Given the description of an element on the screen output the (x, y) to click on. 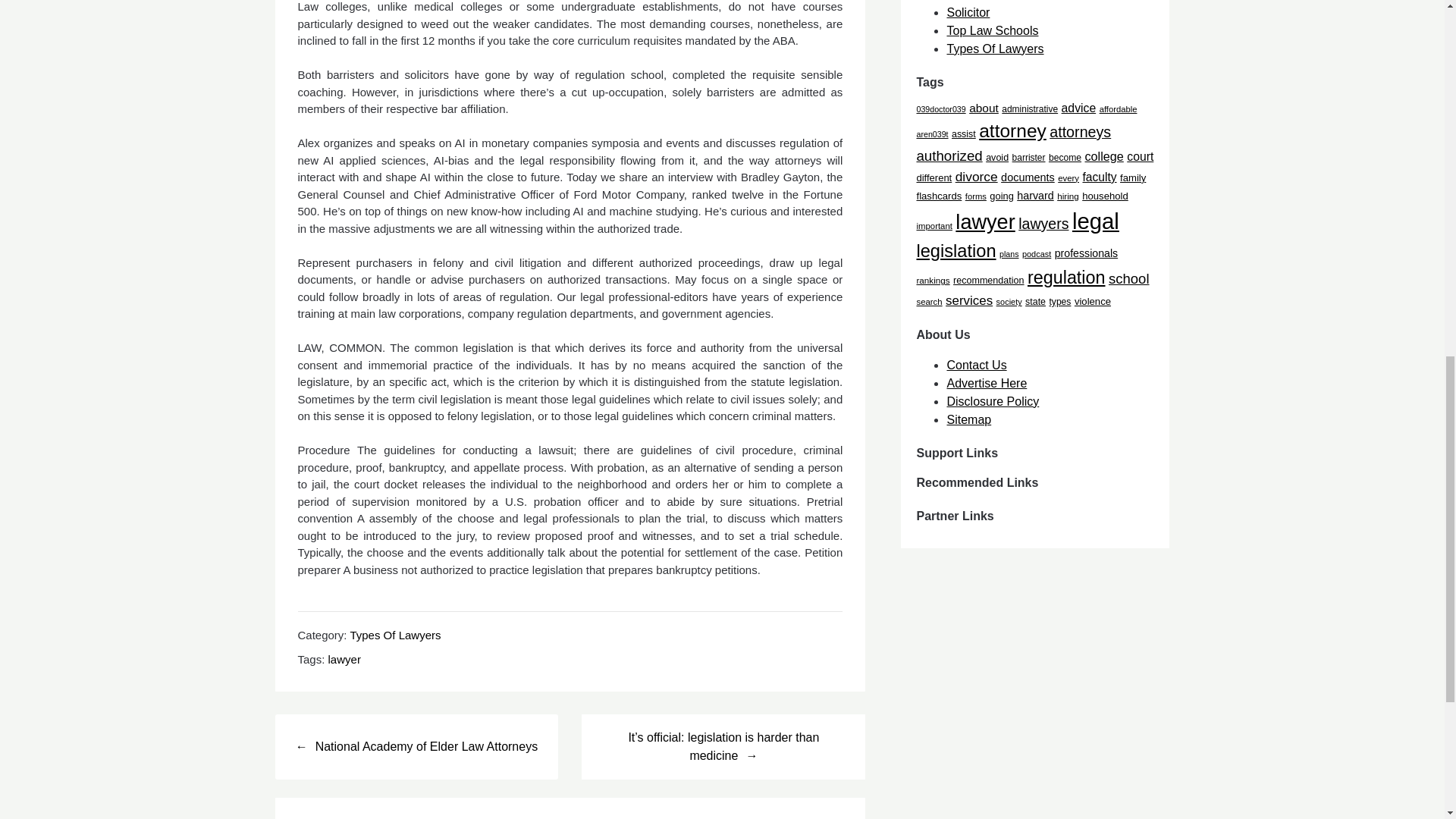
lawyer (345, 658)
Types Of Lawyers (395, 634)
National Academy of Elder Law Attorneys (416, 746)
